Given the description of an element on the screen output the (x, y) to click on. 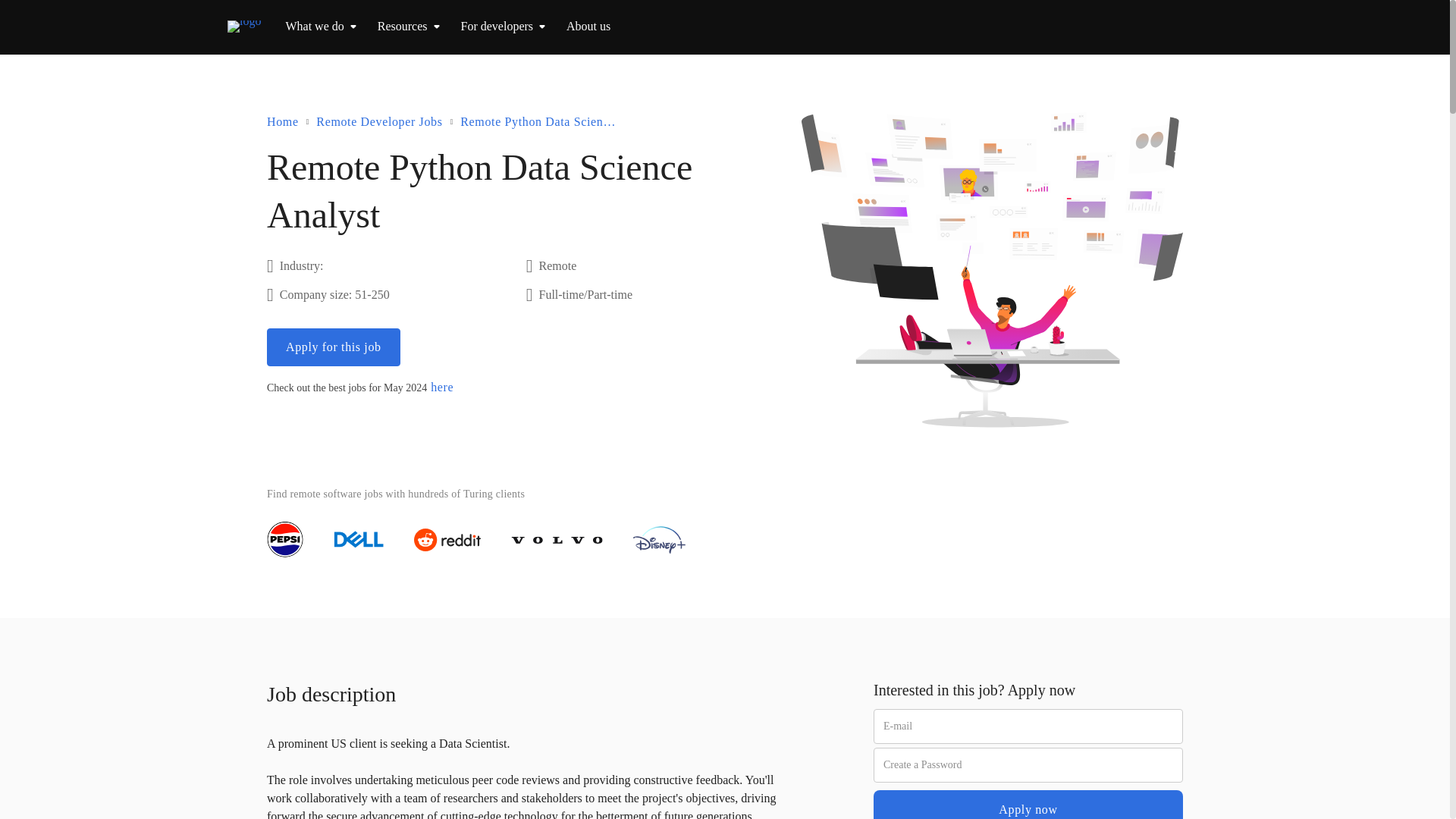
Apply now (1027, 804)
Apply now (1027, 804)
here (441, 387)
About us (588, 26)
Remote Python Data Science Analyst (540, 122)
Apply for this job (333, 347)
Resources (402, 26)
Home (282, 122)
What we do (314, 26)
Remote Developer Jobs (378, 122)
For developers (497, 26)
